Given the description of an element on the screen output the (x, y) to click on. 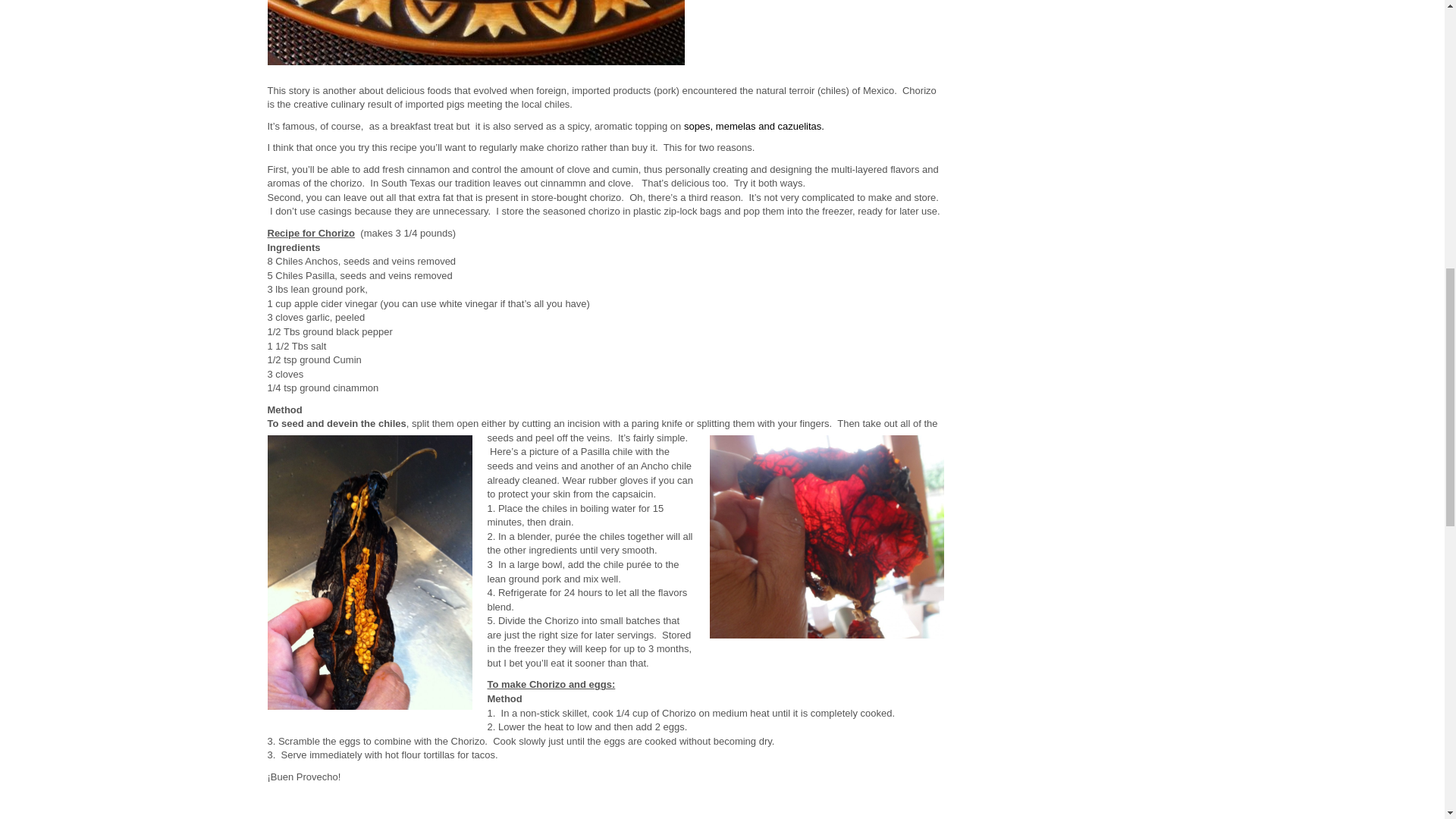
sopes, memelas and cazuelitas. (754, 125)
AnchoRedsml (826, 536)
